Given the description of an element on the screen output the (x, y) to click on. 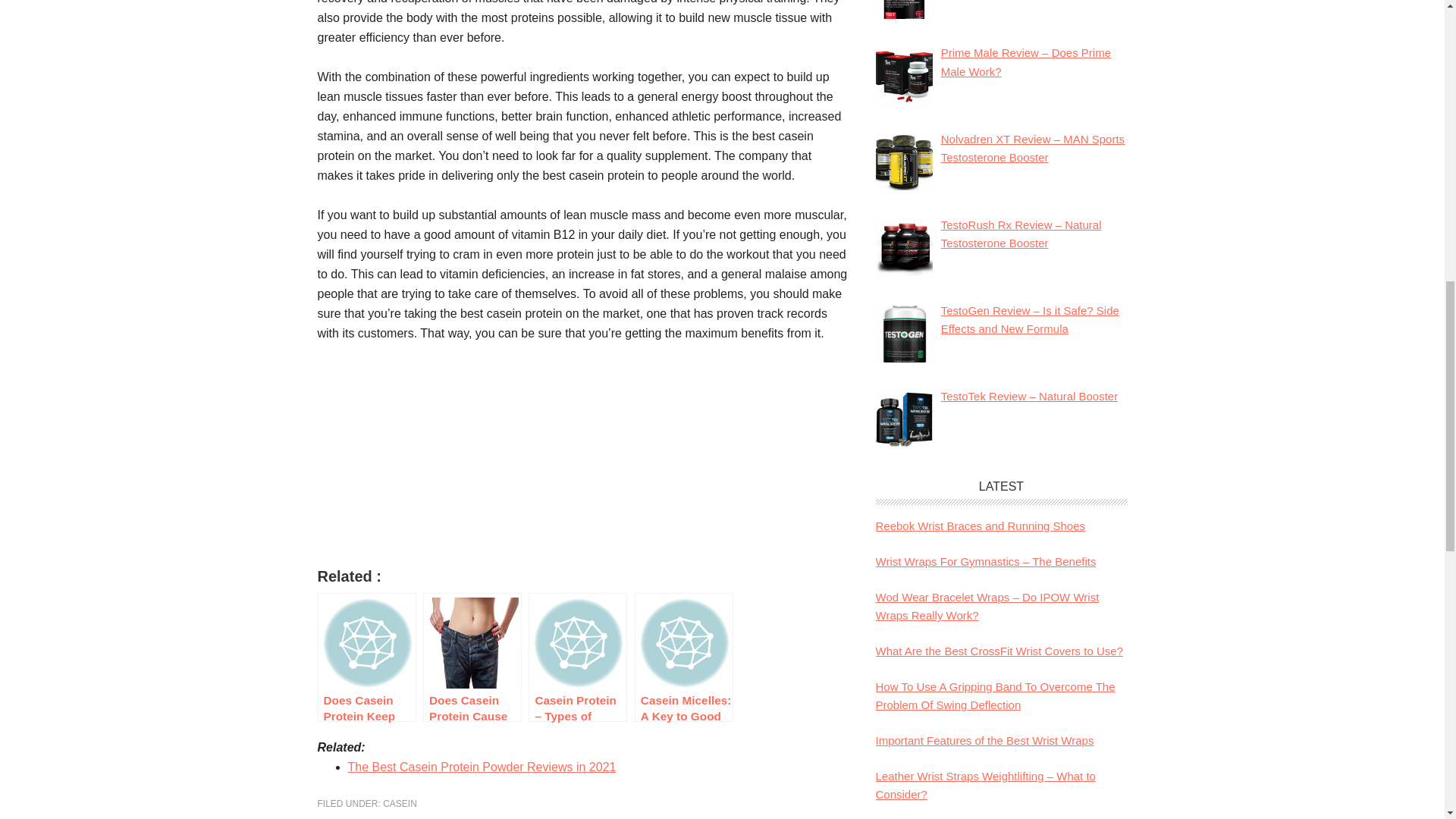
Reebok Wrist Braces and Running Shoes (979, 525)
CASEIN (399, 803)
The Best Casein Protein Powder Reviews in 2021 (481, 766)
